Given the description of an element on the screen output the (x, y) to click on. 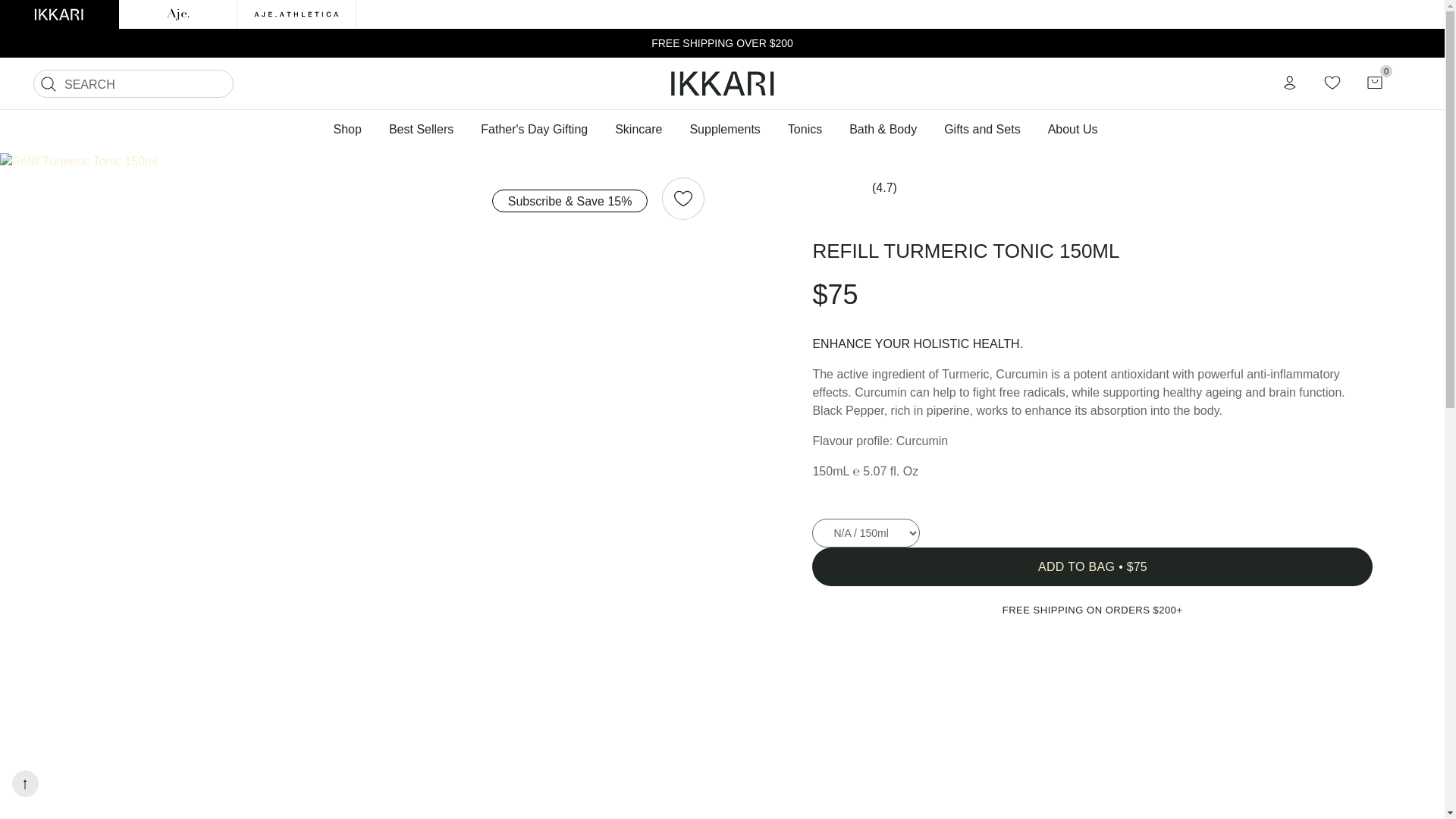
Best Sellers (421, 129)
Supplements (724, 129)
Skincare (638, 129)
Best Sellers (421, 129)
Shop (354, 129)
Tonics (804, 129)
Gifts and Sets (981, 129)
Supplements (724, 129)
Father's Day Gifting (534, 129)
Skincare (638, 129)
